Given the description of an element on the screen output the (x, y) to click on. 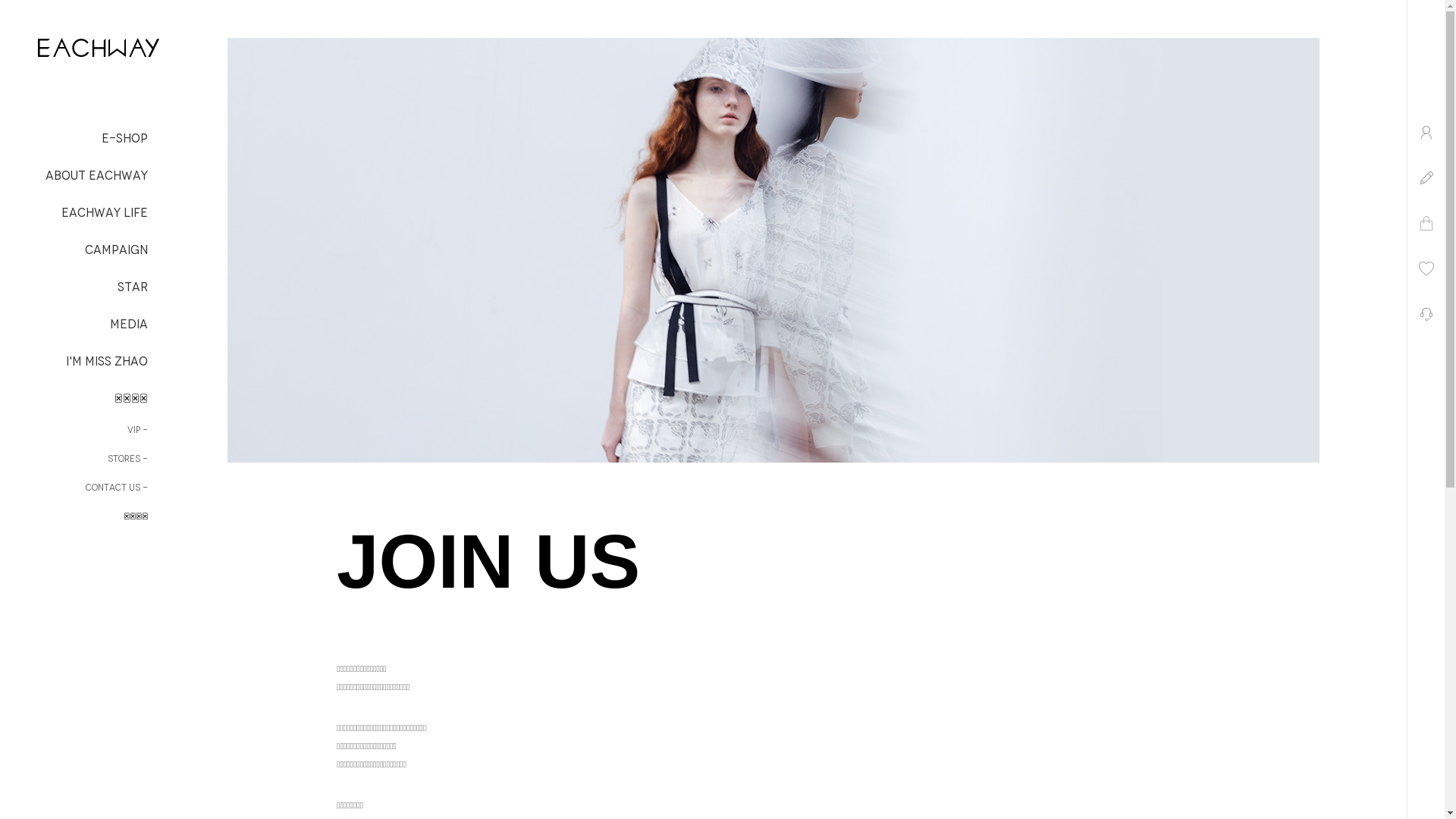
E-SHOP Element type: text (73, 138)
STORES - Element type: text (73, 458)
VIP - Element type: text (73, 429)
EACHWAY LIFE Element type: text (73, 212)
ABOUT EACHWAY Element type: text (73, 175)
CAMPAIGN Element type: text (73, 250)
CONTACT US - Element type: text (73, 487)
MEDIA Element type: text (73, 324)
STAR Element type: text (73, 287)
I'M MISS ZHAO Element type: text (73, 361)
